Given the description of an element on the screen output the (x, y) to click on. 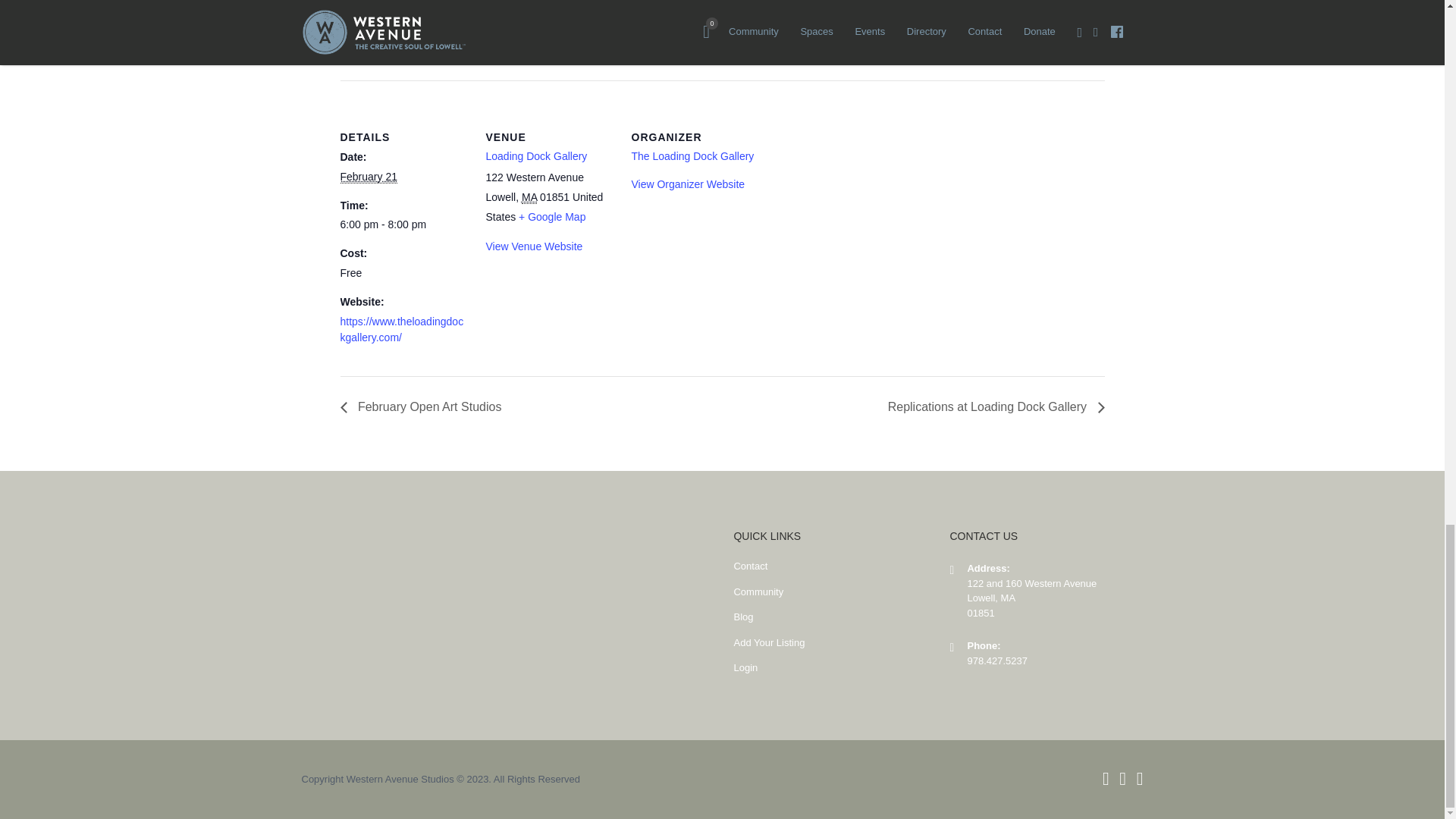
Loading Dock Gallery (535, 155)
Add to calendar (418, 40)
2024-02-21 (367, 176)
The Loading Dock Gallery (692, 155)
2024-02-21 (403, 224)
Click to view a Google Map (551, 216)
Massachusetts (529, 196)
